Given the description of an element on the screen output the (x, y) to click on. 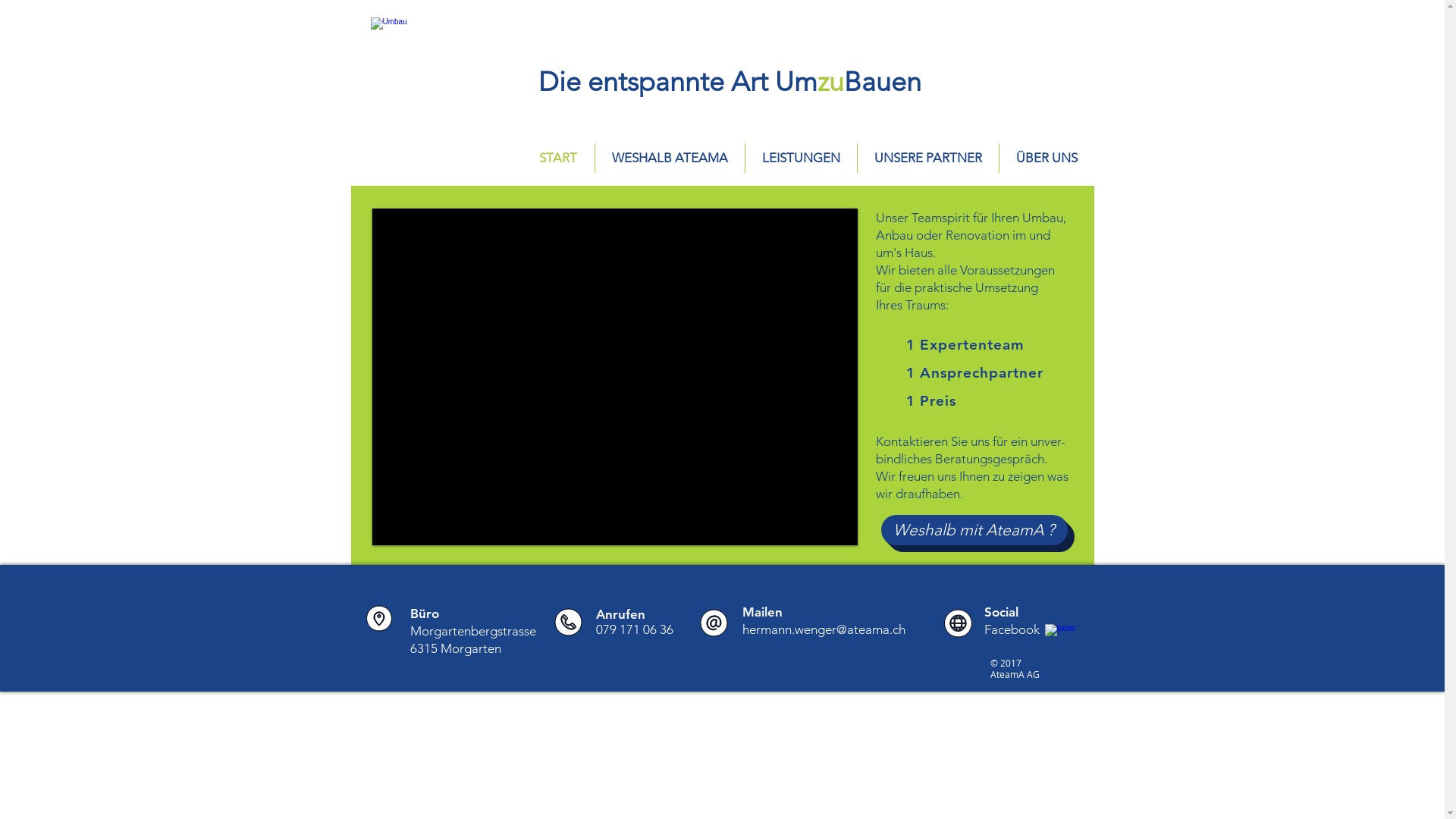
LEISTUNGEN Element type: text (800, 157)
UNSERE PARTNER Element type: text (926, 157)
START Element type: text (557, 157)
Weshalb mit AteamA ? Element type: text (974, 529)
WESHALB ATEAMA Element type: text (668, 157)
hermann.wenger@ateama.ch Element type: text (822, 629)
